Given the description of an element on the screen output the (x, y) to click on. 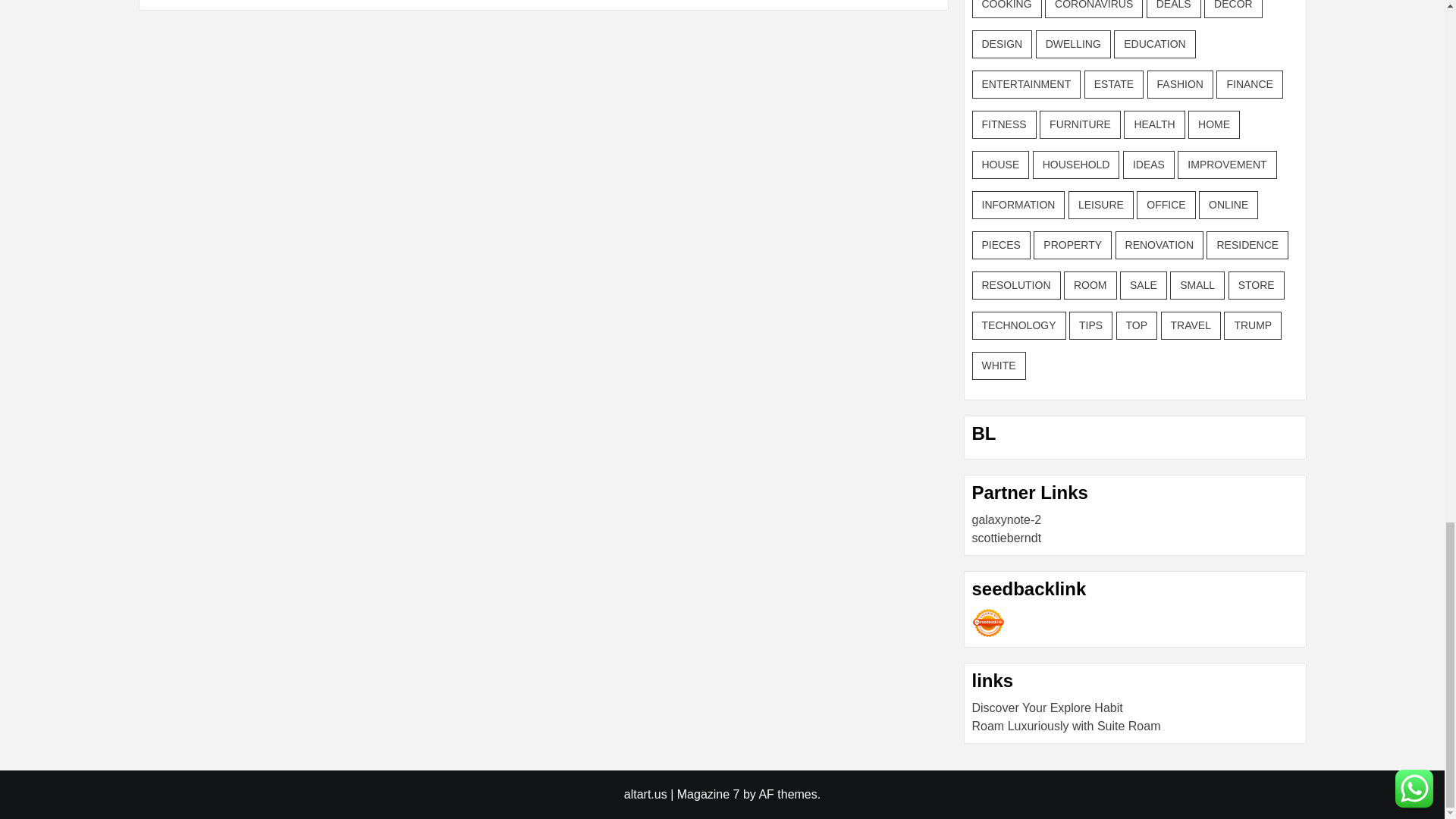
Seedbacklink (988, 622)
